Given the description of an element on the screen output the (x, y) to click on. 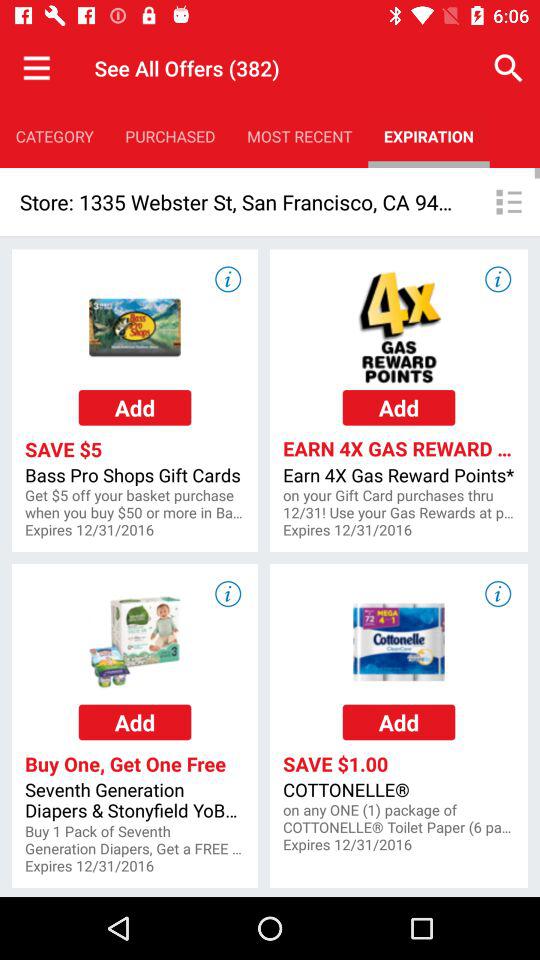
turn off app above the expiration app (508, 67)
